Given the description of an element on the screen output the (x, y) to click on. 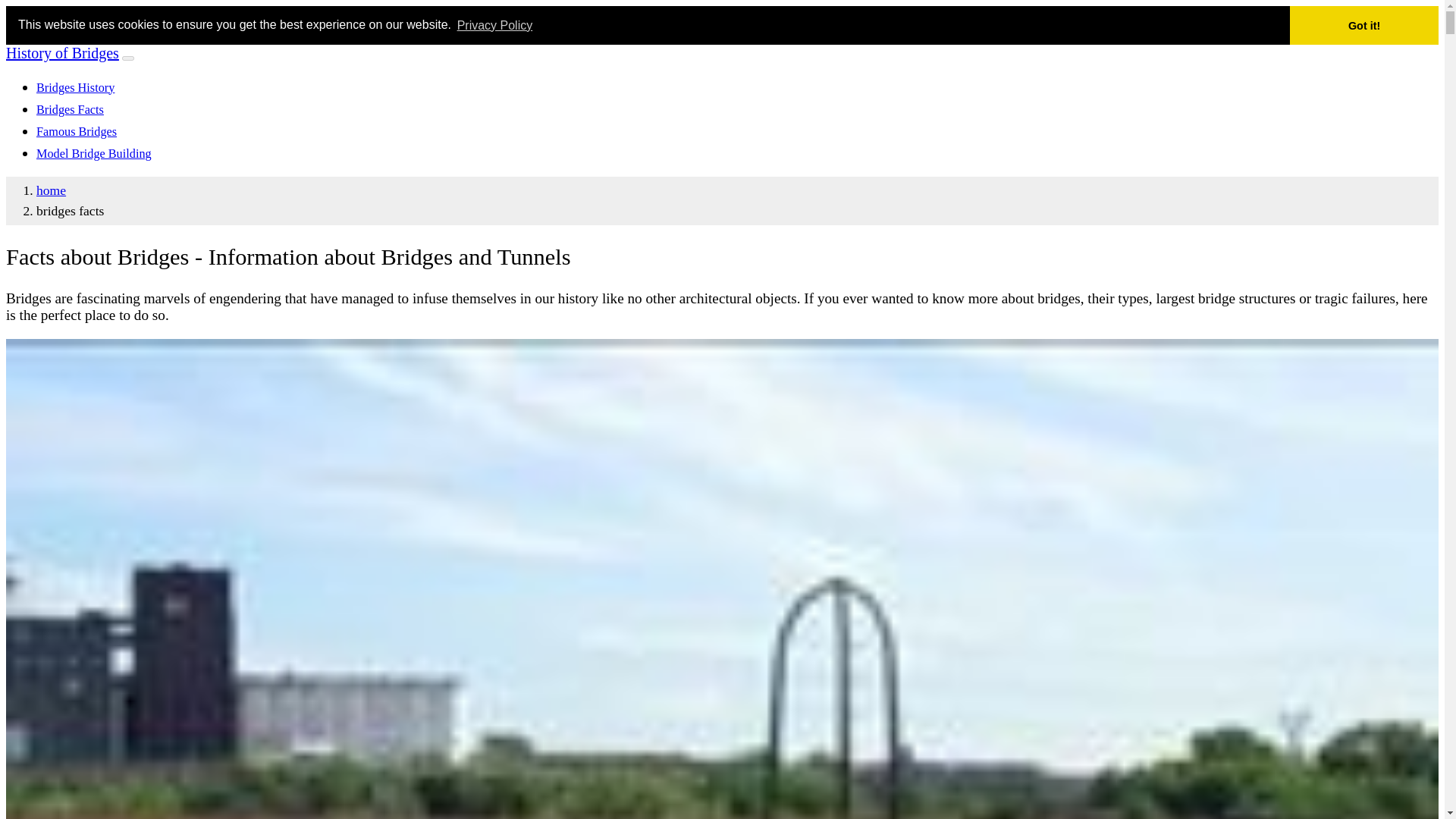
Bridges Facts (69, 110)
History of Bridges (62, 53)
Model Bridge Building (93, 153)
Famous Bridges (76, 131)
Privacy Policy (494, 24)
Bridges History (75, 88)
home (50, 190)
